Given the description of an element on the screen output the (x, y) to click on. 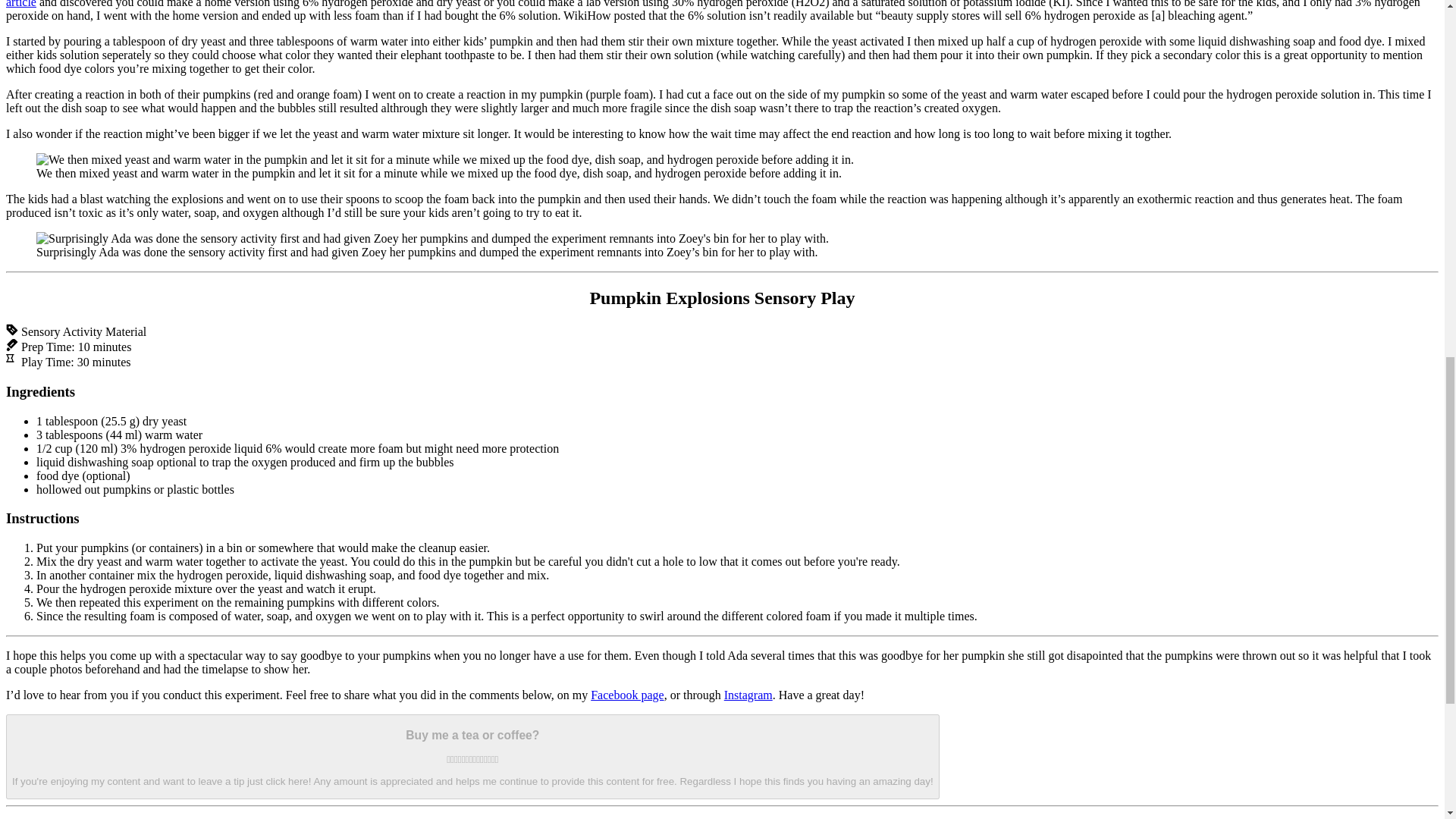
Instagram (748, 694)
Facebook page (627, 694)
